Given the description of an element on the screen output the (x, y) to click on. 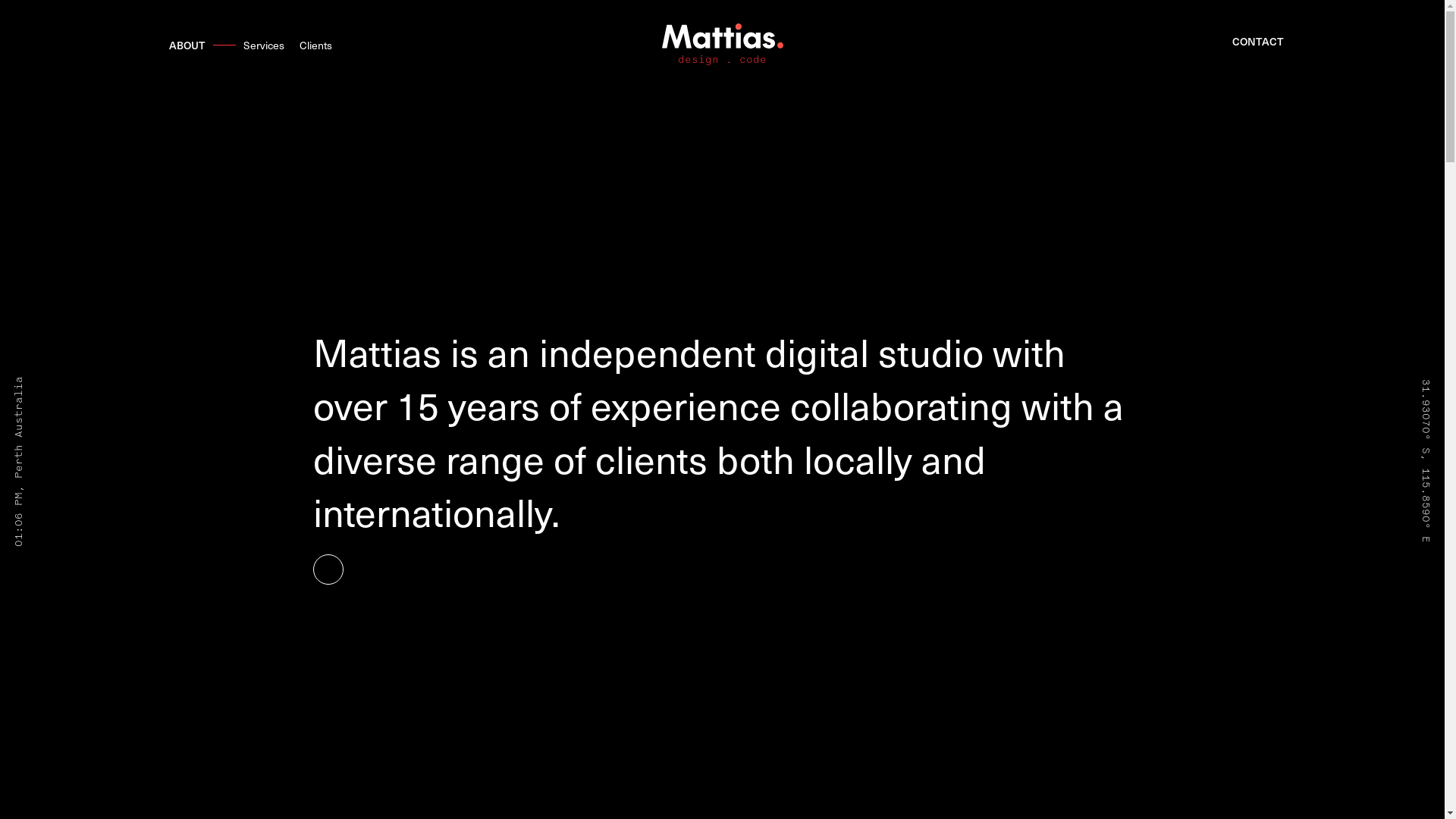
ABOUT Element type: text (186, 45)
design . code Element type: text (721, 45)
Clients Element type: text (314, 45)
Services Element type: text (263, 45)
CONTACT Element type: text (1257, 41)
Next: Services Element type: text (327, 569)
